Given the description of an element on the screen output the (x, y) to click on. 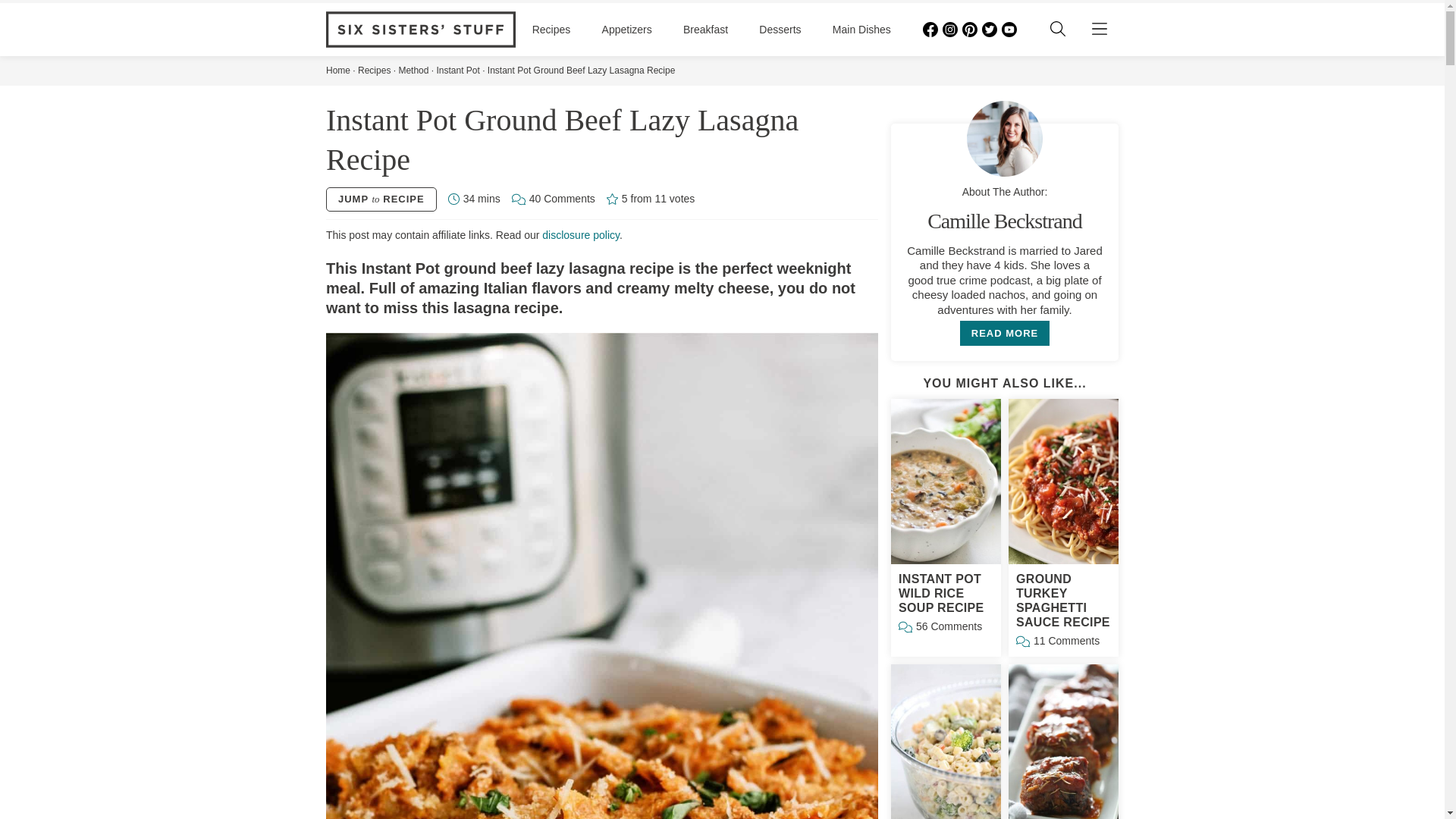
Main Dishes (861, 29)
Breakfast (705, 29)
Appetizers (627, 29)
Recipes (551, 29)
Desserts (779, 29)
